Given the description of an element on the screen output the (x, y) to click on. 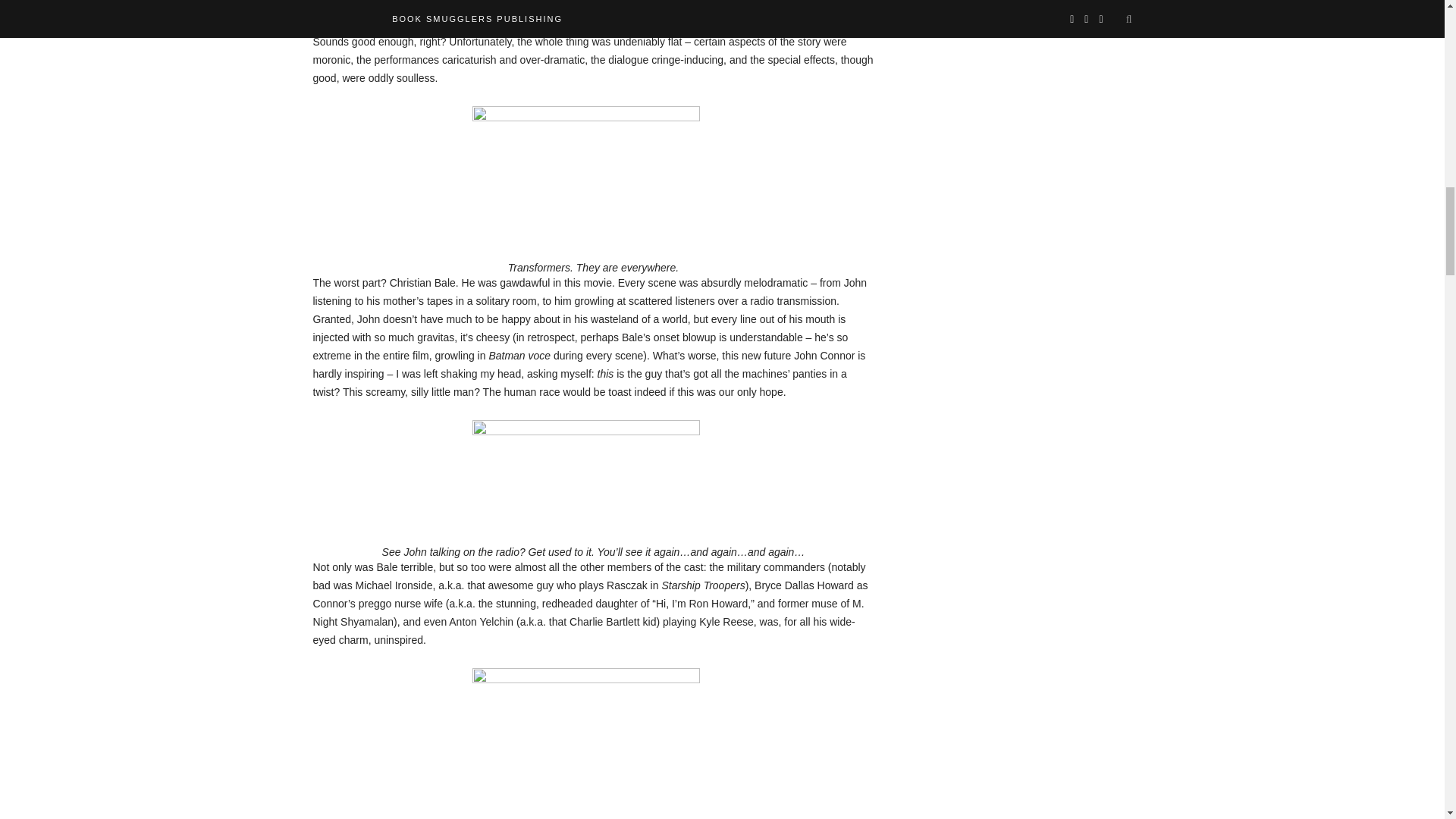
salvation-transformer (584, 168)
marcus-3 (584, 743)
connor-2 (584, 467)
